Given the description of an element on the screen output the (x, y) to click on. 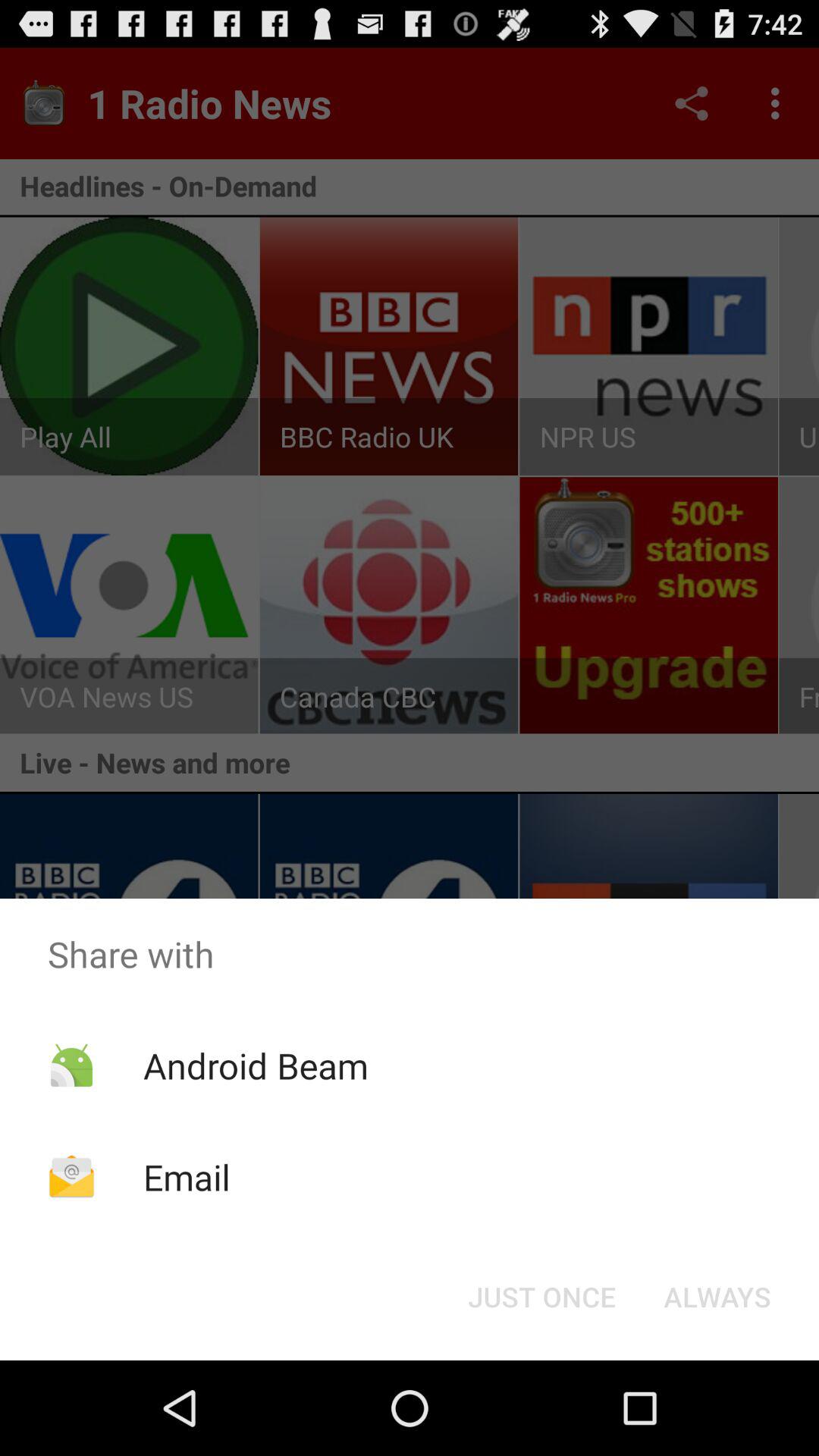
select just once (541, 1296)
